Given the description of an element on the screen output the (x, y) to click on. 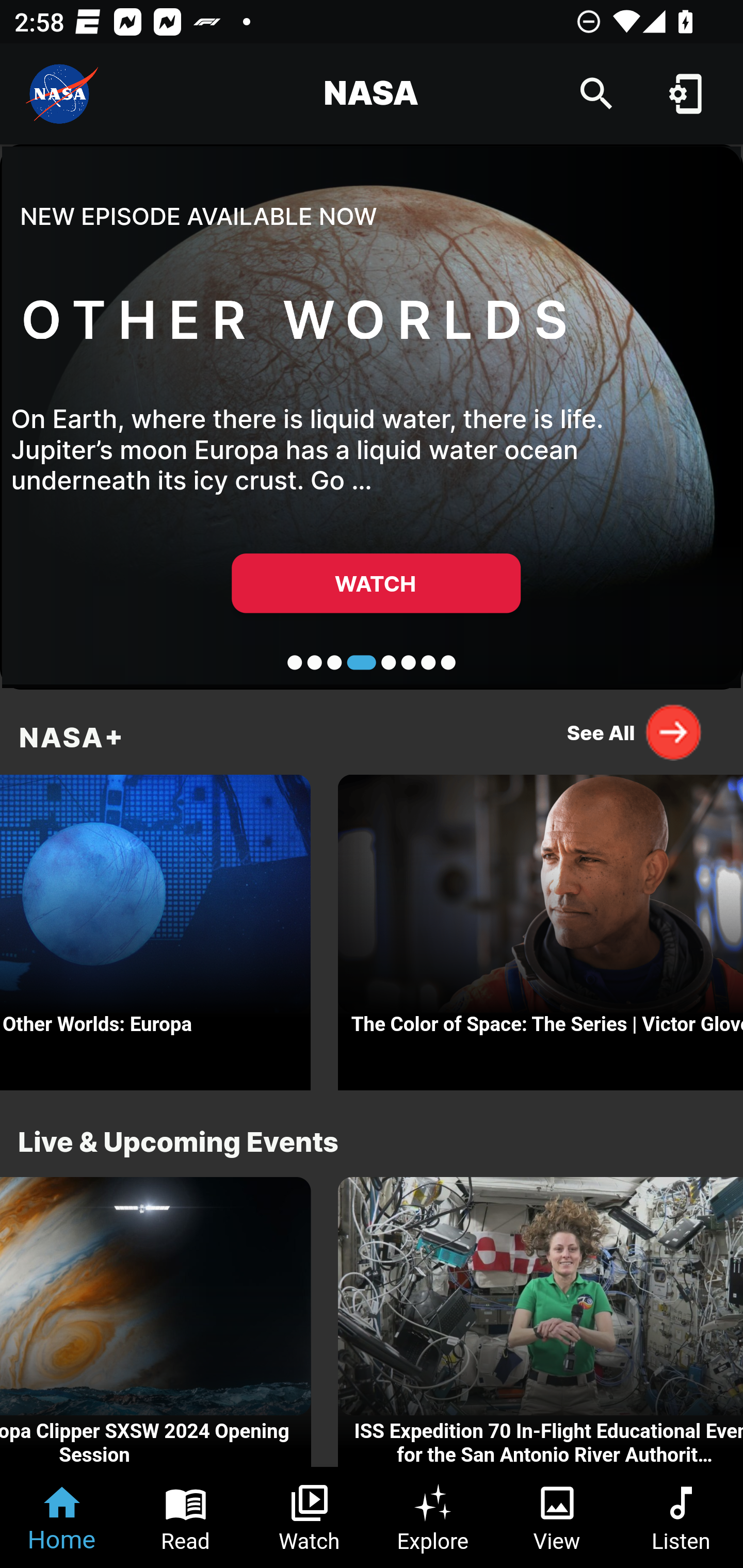
WATCH (375, 583)
See All (634, 732)
Other Worlds: Europa (155, 927)
The Color of Space: The Series | Victor Glover (540, 927)
NASA's Europa Clipper SXSW 2024 Opening Session (155, 1322)
Home
Tab 1 of 6 (62, 1517)
Read
Tab 2 of 6 (185, 1517)
Watch
Tab 3 of 6 (309, 1517)
Explore
Tab 4 of 6 (433, 1517)
View
Tab 5 of 6 (556, 1517)
Listen
Tab 6 of 6 (680, 1517)
